Given the description of an element on the screen output the (x, y) to click on. 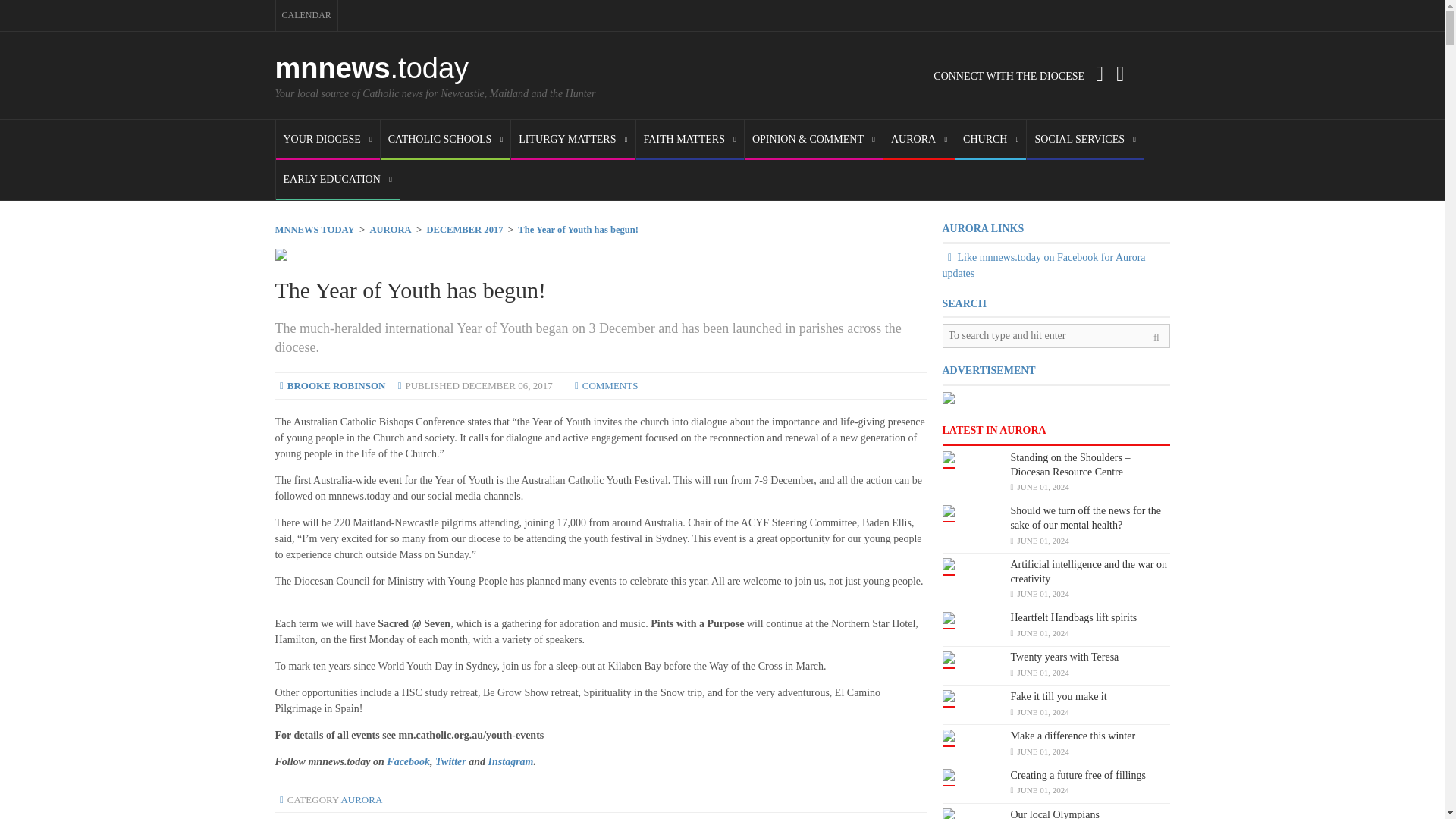
mnnews.today (371, 68)
YOUR DIOCESE (328, 139)
CATHOLIC SCHOOLS (445, 139)
LITURGY MATTERS (572, 139)
CALENDAR (306, 15)
